Given the description of an element on the screen output the (x, y) to click on. 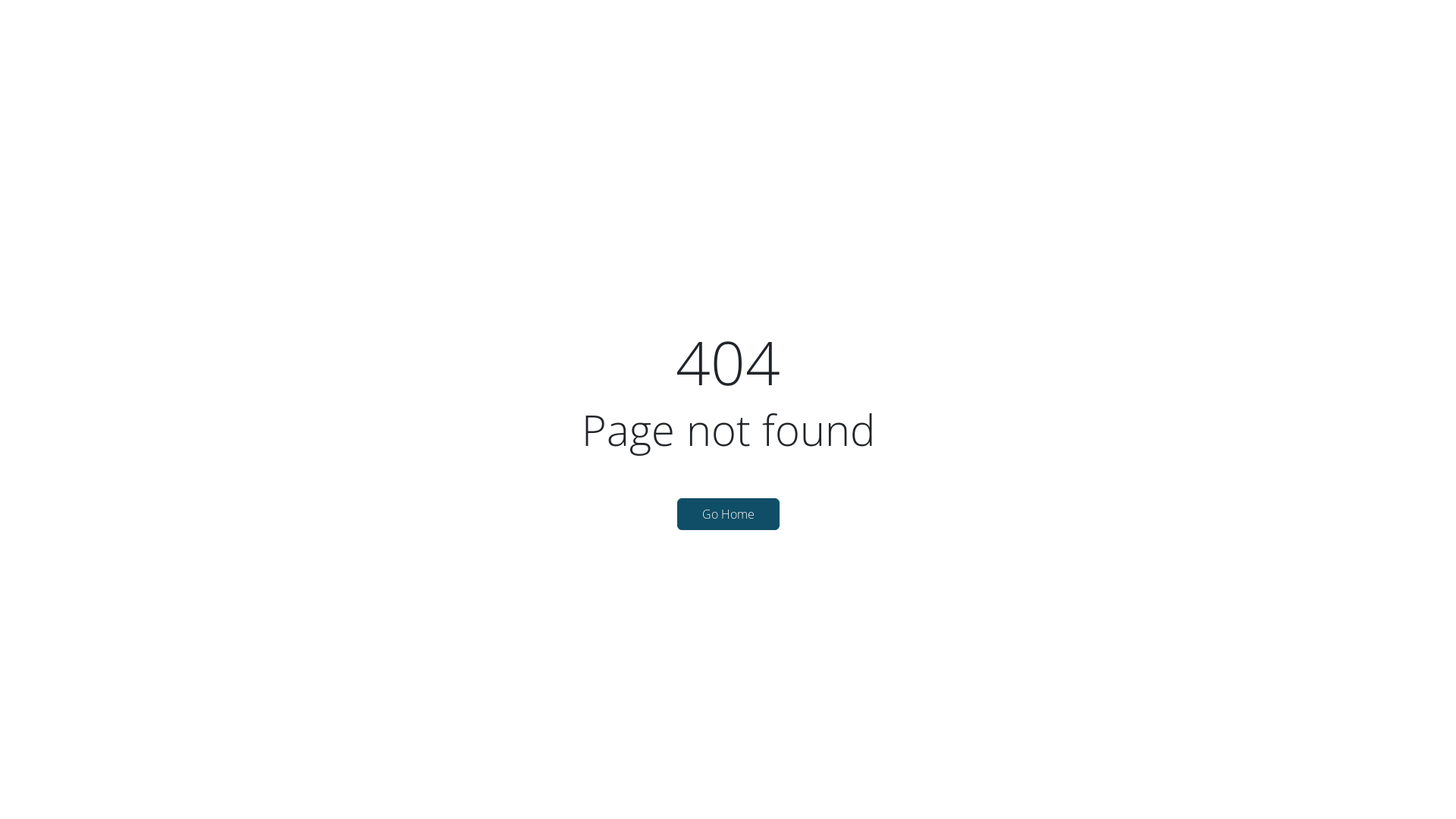
Go Home Element type: text (727, 514)
